Given the description of an element on the screen output the (x, y) to click on. 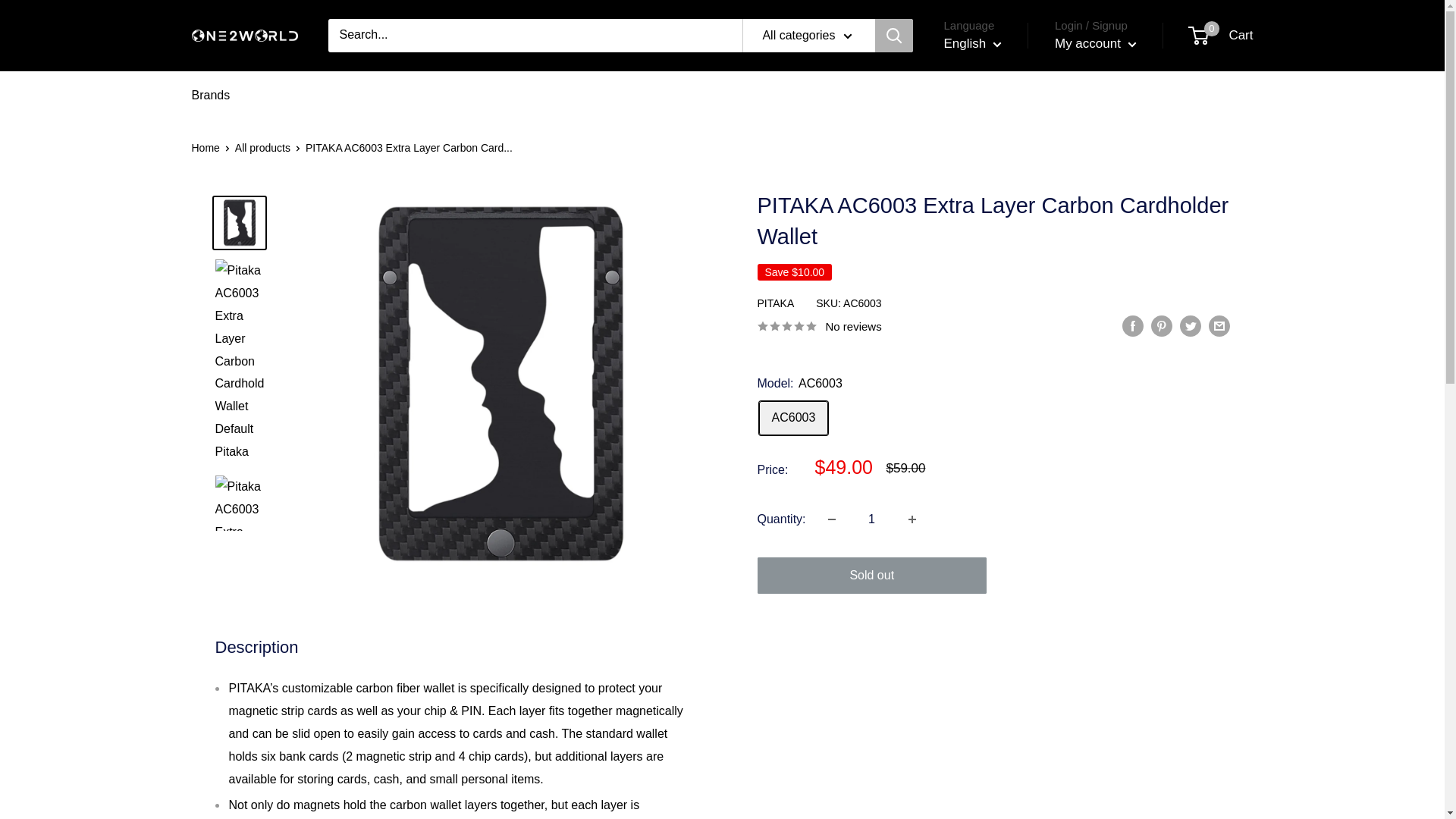
No reviews (818, 325)
en (981, 87)
PITAKA (775, 303)
ms (981, 134)
Increase quantity by 1 (912, 519)
Brands (1221, 35)
All products (210, 95)
My account (261, 147)
1 (1095, 43)
